Given the description of an element on the screen output the (x, y) to click on. 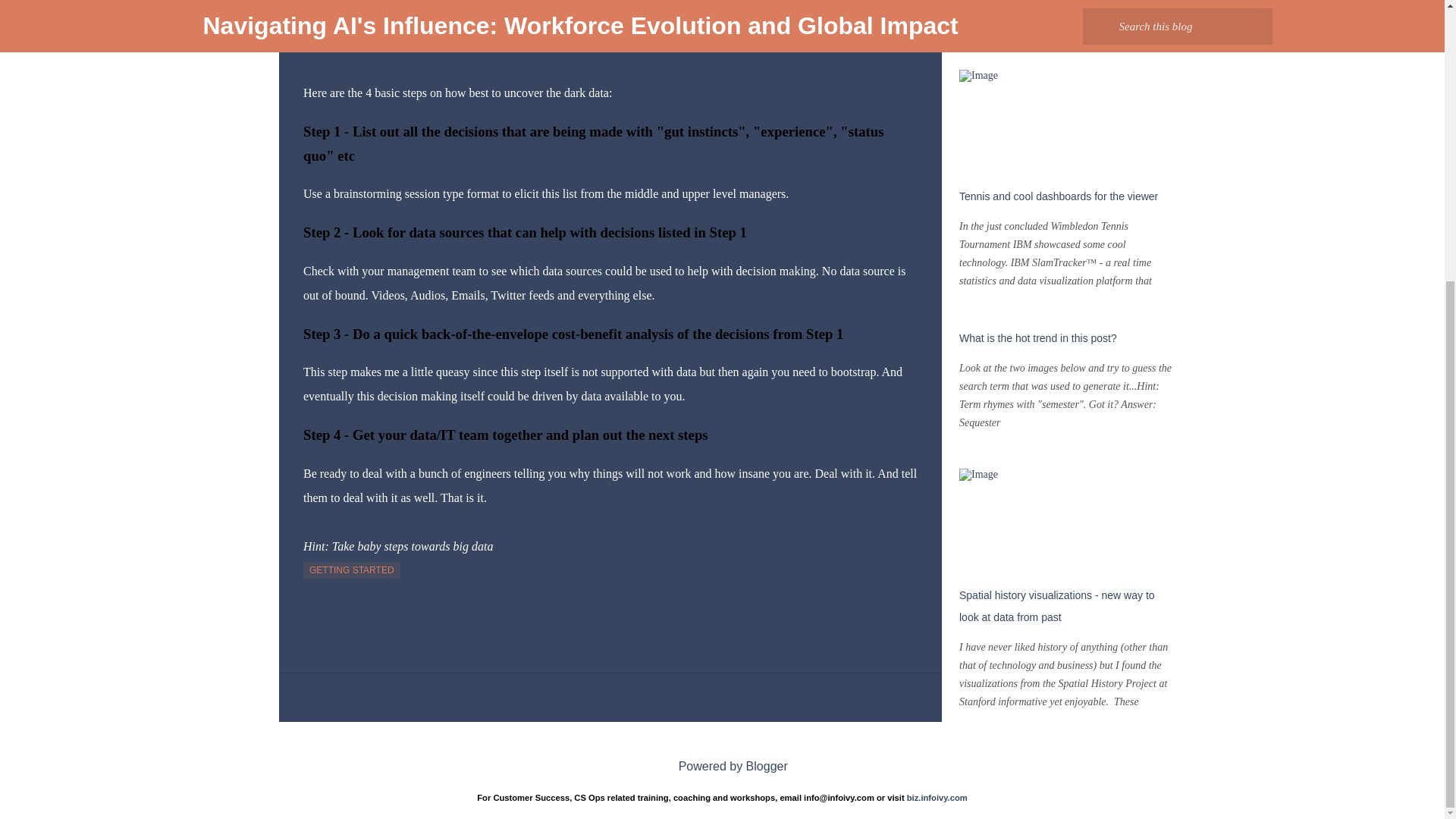
Dark data (332, 19)
GETTING STARTED (351, 569)
biz.infoivy.com (937, 797)
What is the hot trend in this post? (1037, 337)
Tennis and cool dashboards for the viewer (1058, 196)
Powered by Blogger (721, 766)
